Given the description of an element on the screen output the (x, y) to click on. 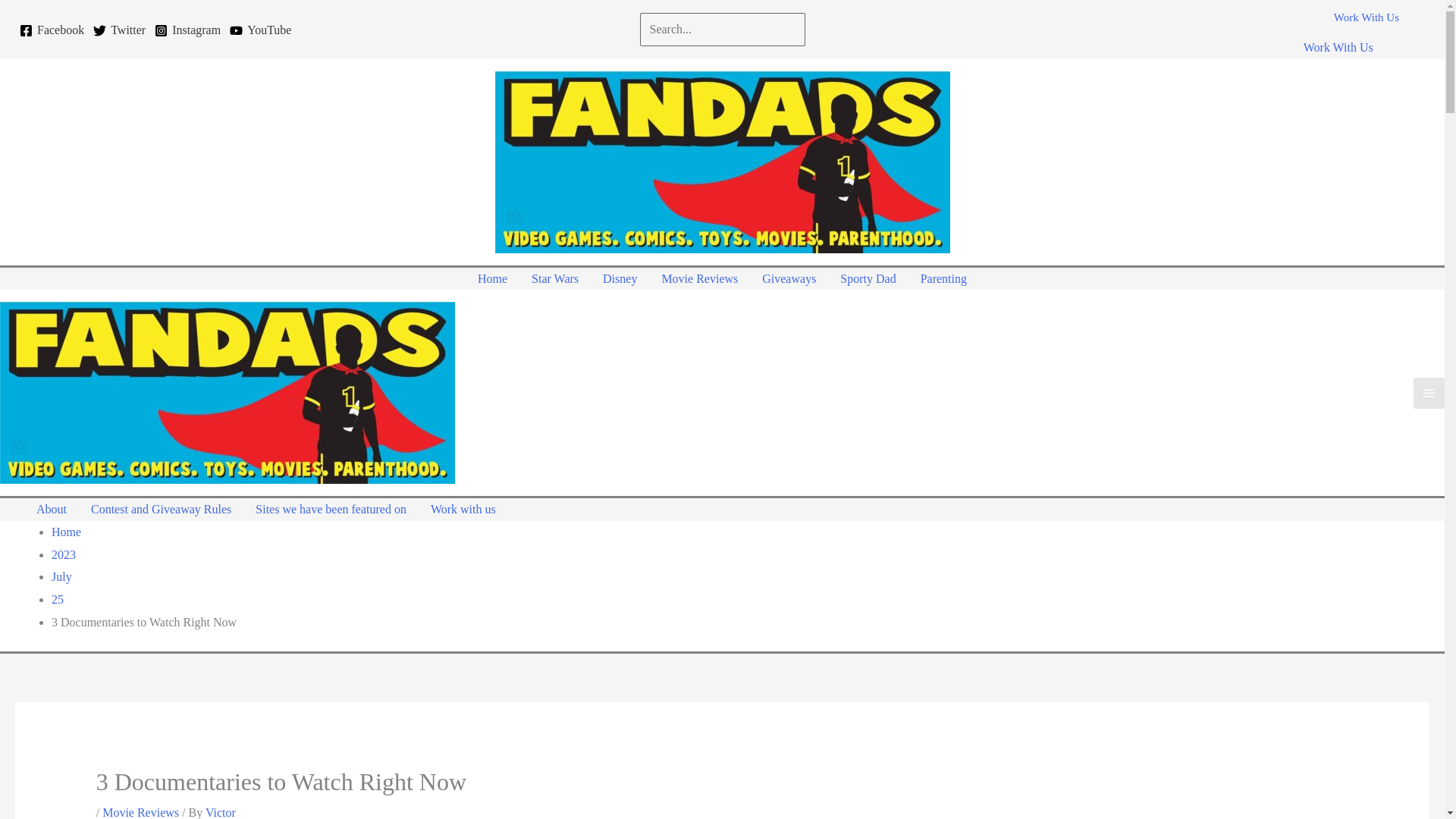
25 (57, 599)
Movie Reviews (140, 812)
Parenting (943, 278)
Sites we have been featured on (331, 508)
Giveaways (788, 278)
Sporty Dad (867, 278)
Instagram (187, 30)
Work With Us (1366, 27)
2023 (62, 554)
Victor (220, 812)
View all posts by Victor (220, 812)
Home (65, 531)
Star Wars (555, 278)
Movie Reviews (699, 278)
Disney (620, 278)
